Given the description of an element on the screen output the (x, y) to click on. 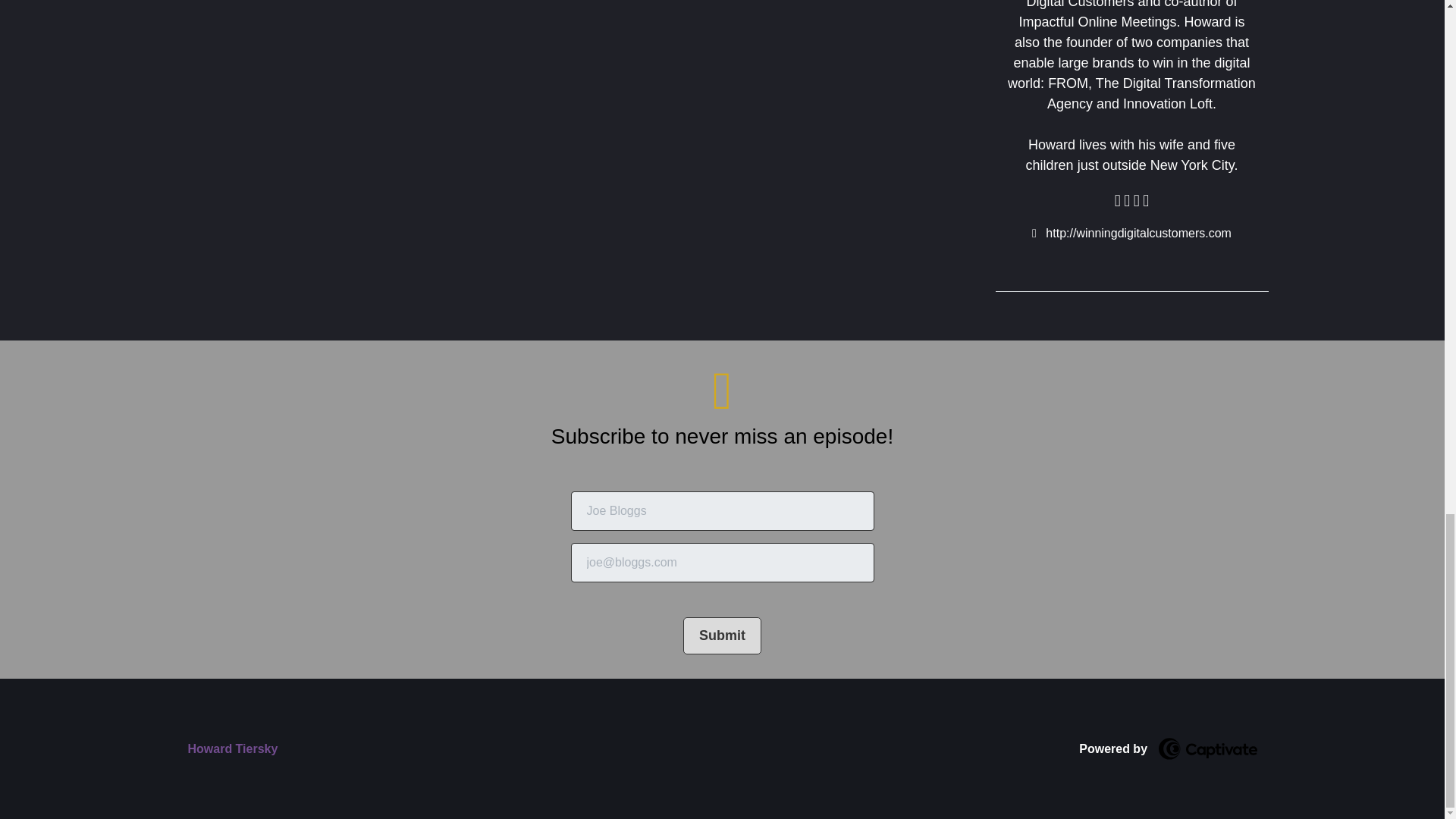
Submit (721, 635)
